Given the description of an element on the screen output the (x, y) to click on. 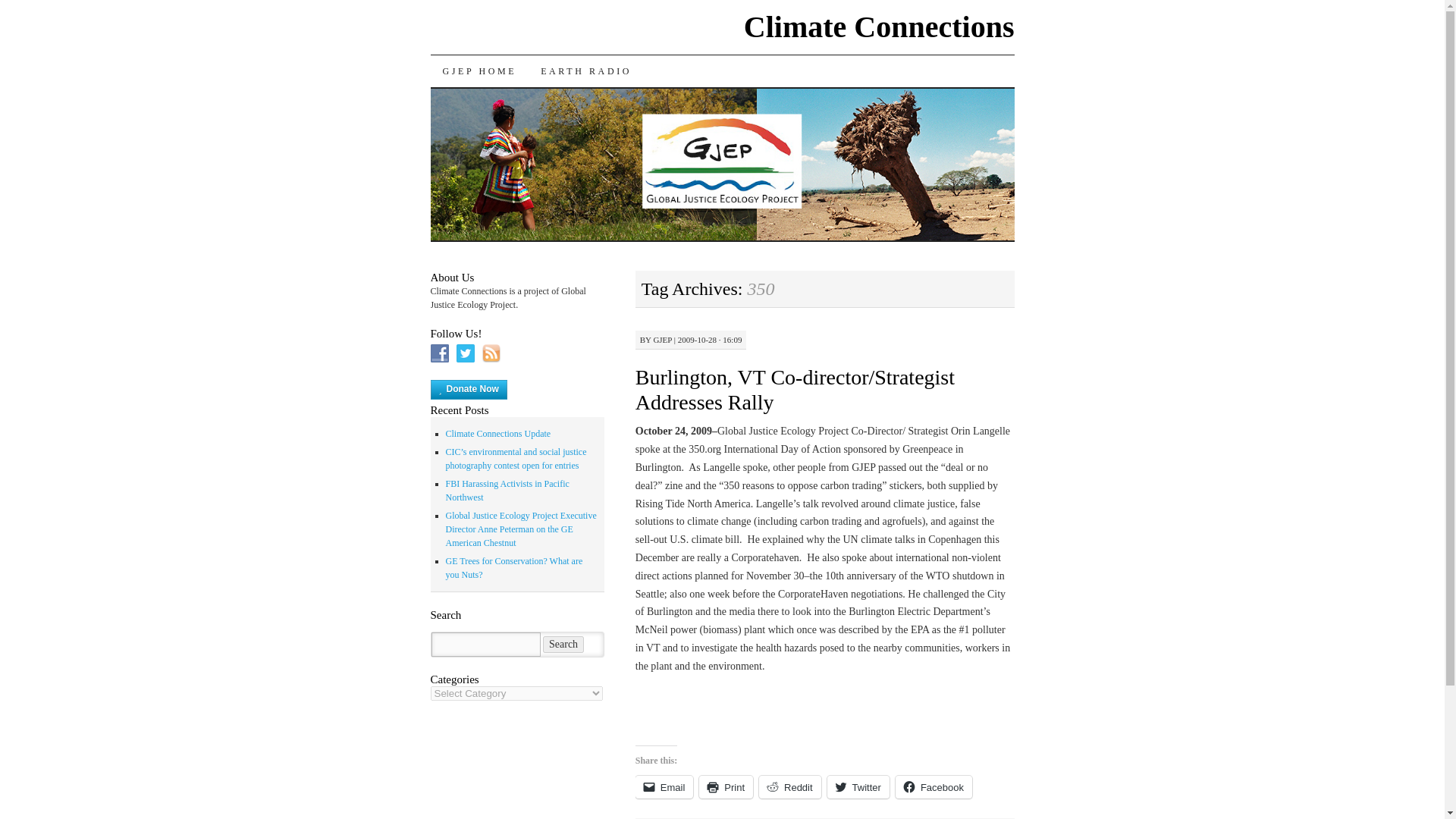
FBI Harassing Activists in Pacific Northwest (507, 490)
Email (664, 786)
Print (725, 786)
Climate Connections Update (498, 433)
Climate Connections (879, 26)
Click to share on Facebook (933, 786)
Climate Connections (879, 26)
Follow Us on RSS (490, 352)
Click to print (725, 786)
